Given the description of an element on the screen output the (x, y) to click on. 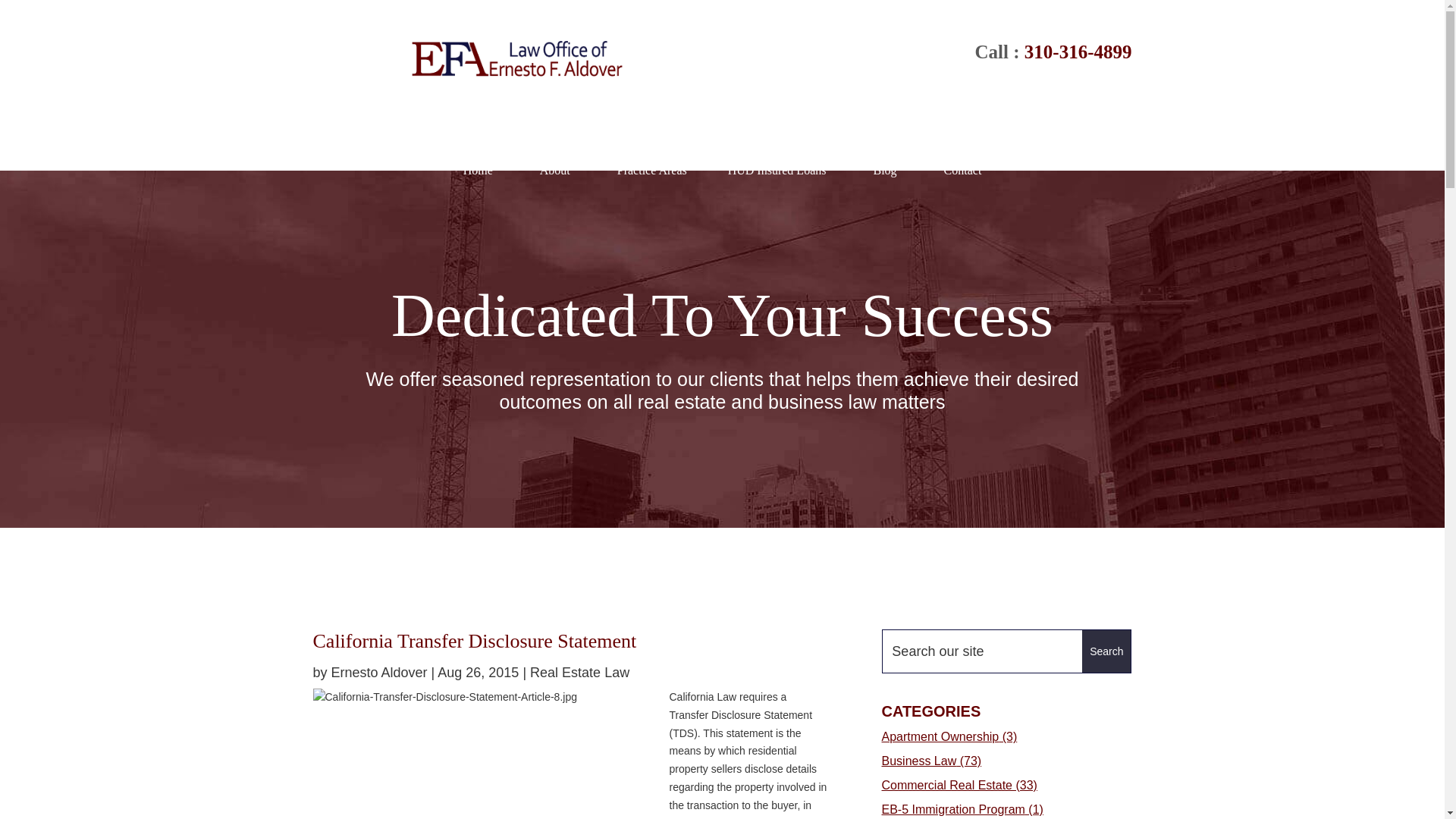
Home (477, 170)
Real Estate Law (578, 672)
310-316-4899 (1078, 51)
Practice Areas (648, 170)
Search (1106, 650)
Law-Office-of-Ernesto-F-Aldover (516, 58)
HUD Insured Loans (776, 170)
Blog (884, 170)
About (554, 170)
Posts by Ernesto Aldover (379, 672)
